Given the description of an element on the screen output the (x, y) to click on. 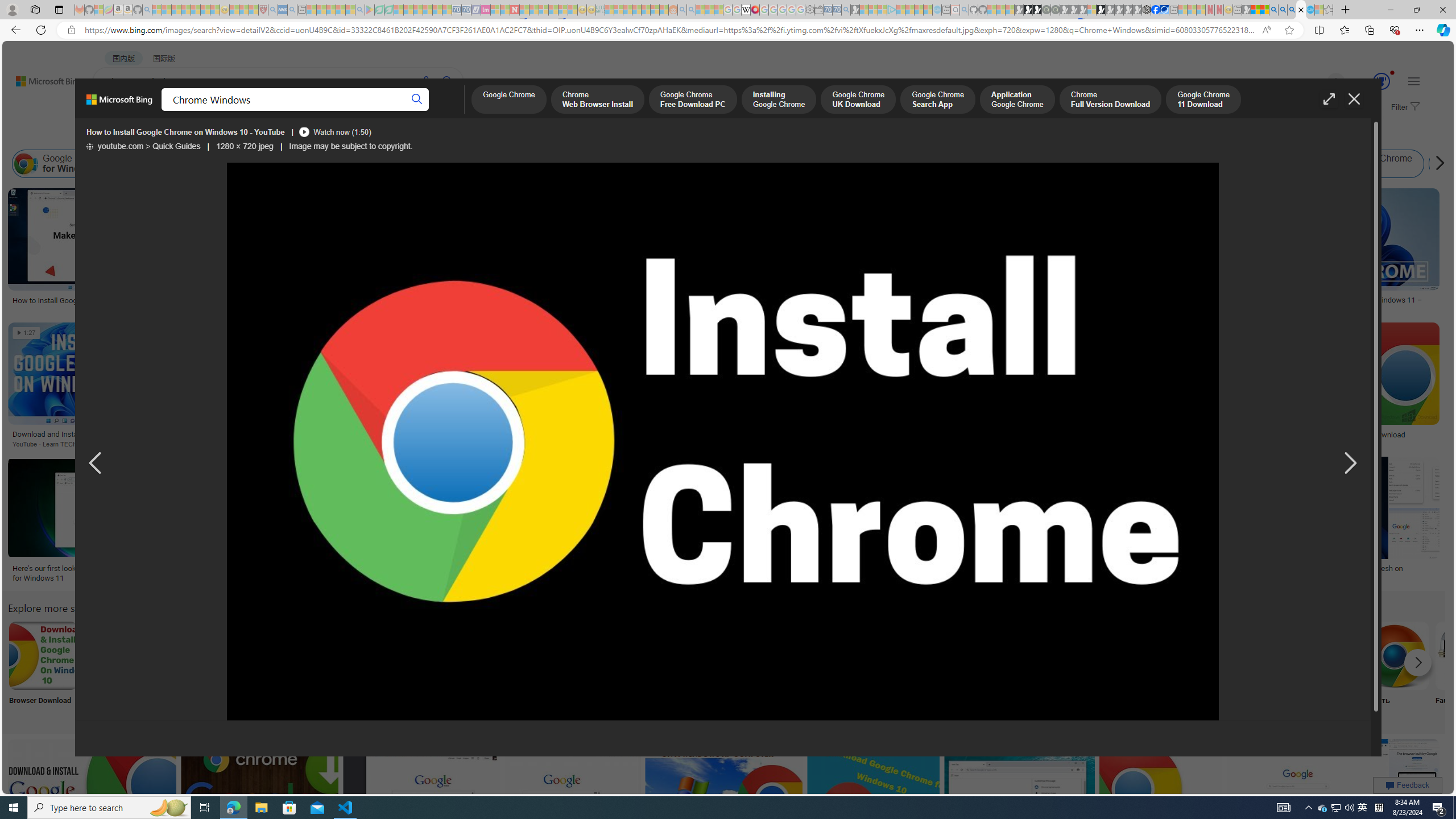
Google Chrome Win 7 (1370, 163)
Logo png (568, 669)
Microsoft-Report a Concern to Bing - Sleeping (98, 9)
Layout (253, 135)
Pets - MSN - Sleeping (340, 9)
Search Bar (868, 669)
Windows-10-Google-Chrome - Windows Mode (627, 568)
Search Engine (268, 669)
apk+Download (118, 669)
